Given the description of an element on the screen output the (x, y) to click on. 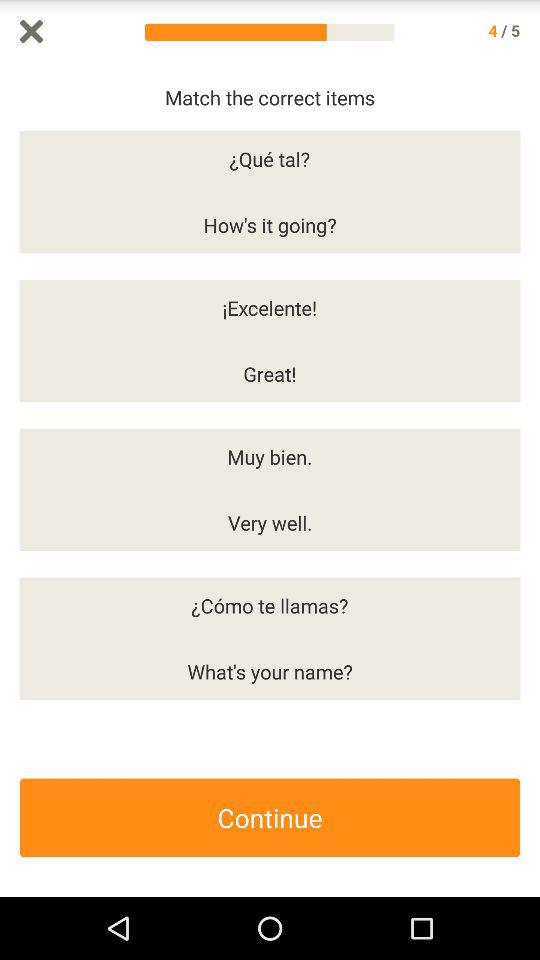
scroll (530, 480)
